Given the description of an element on the screen output the (x, y) to click on. 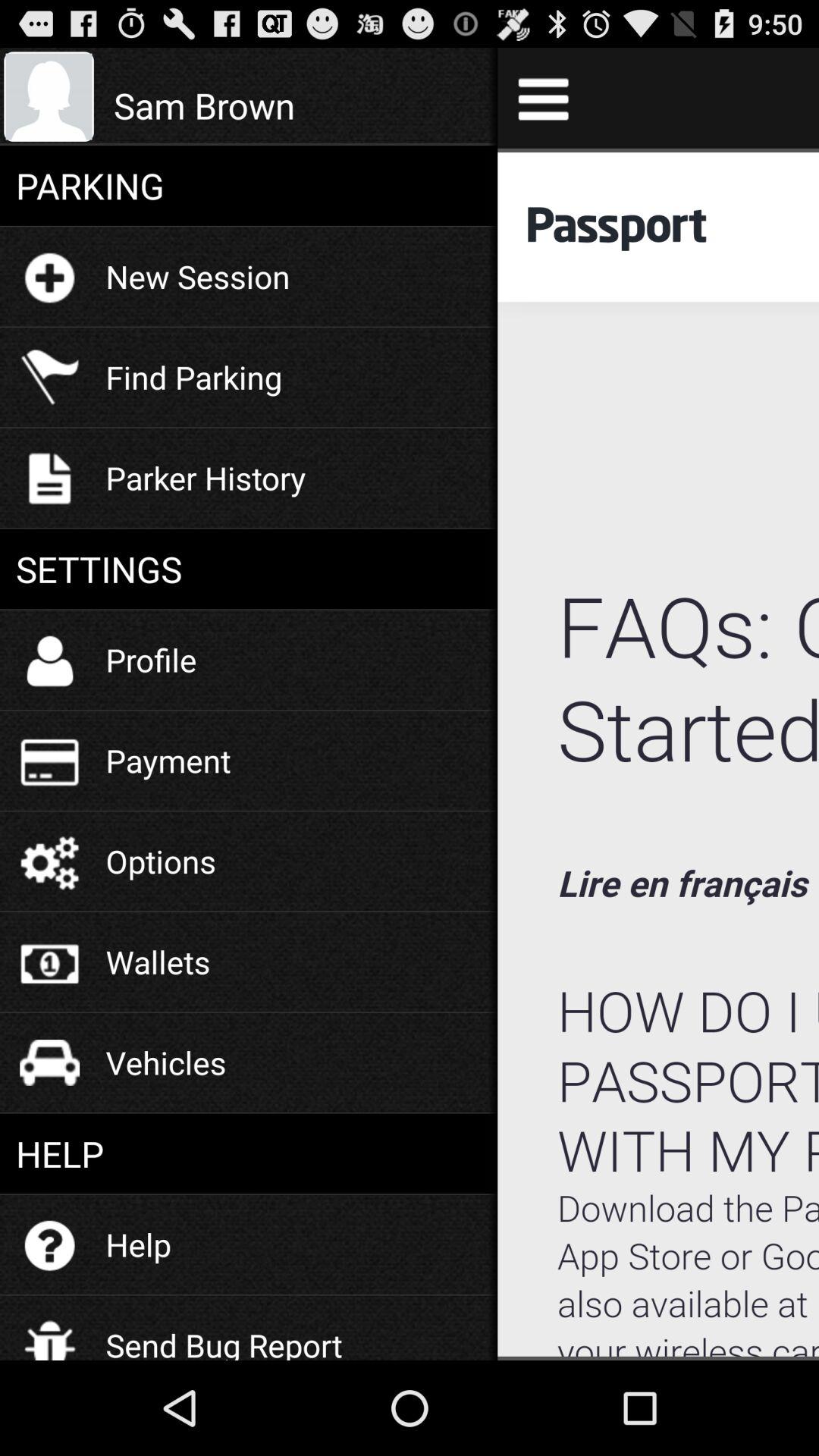
press item above the options (167, 759)
